Given the description of an element on the screen output the (x, y) to click on. 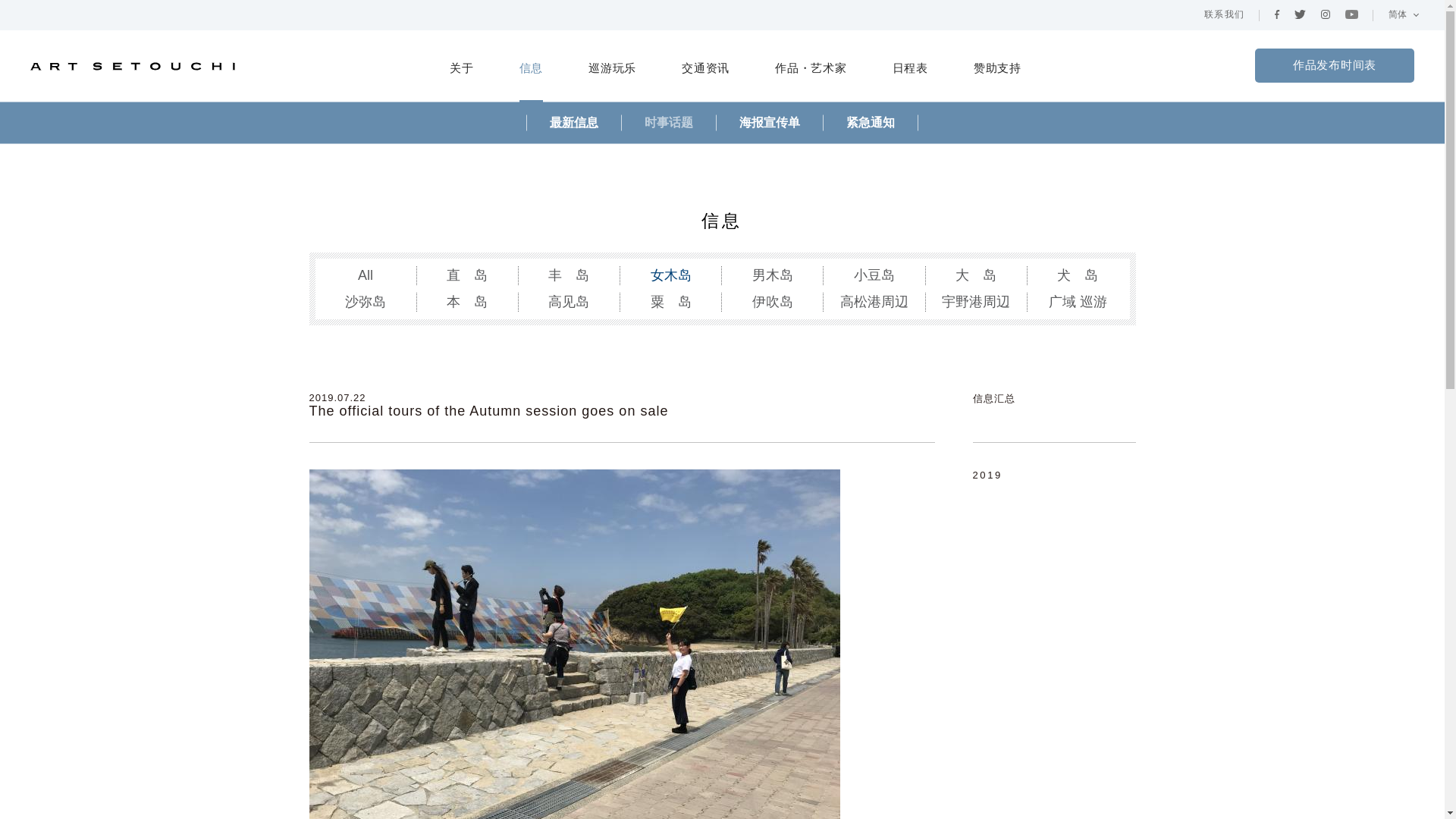
ART SETOUCHI (132, 81)
